Given the description of an element on the screen output the (x, y) to click on. 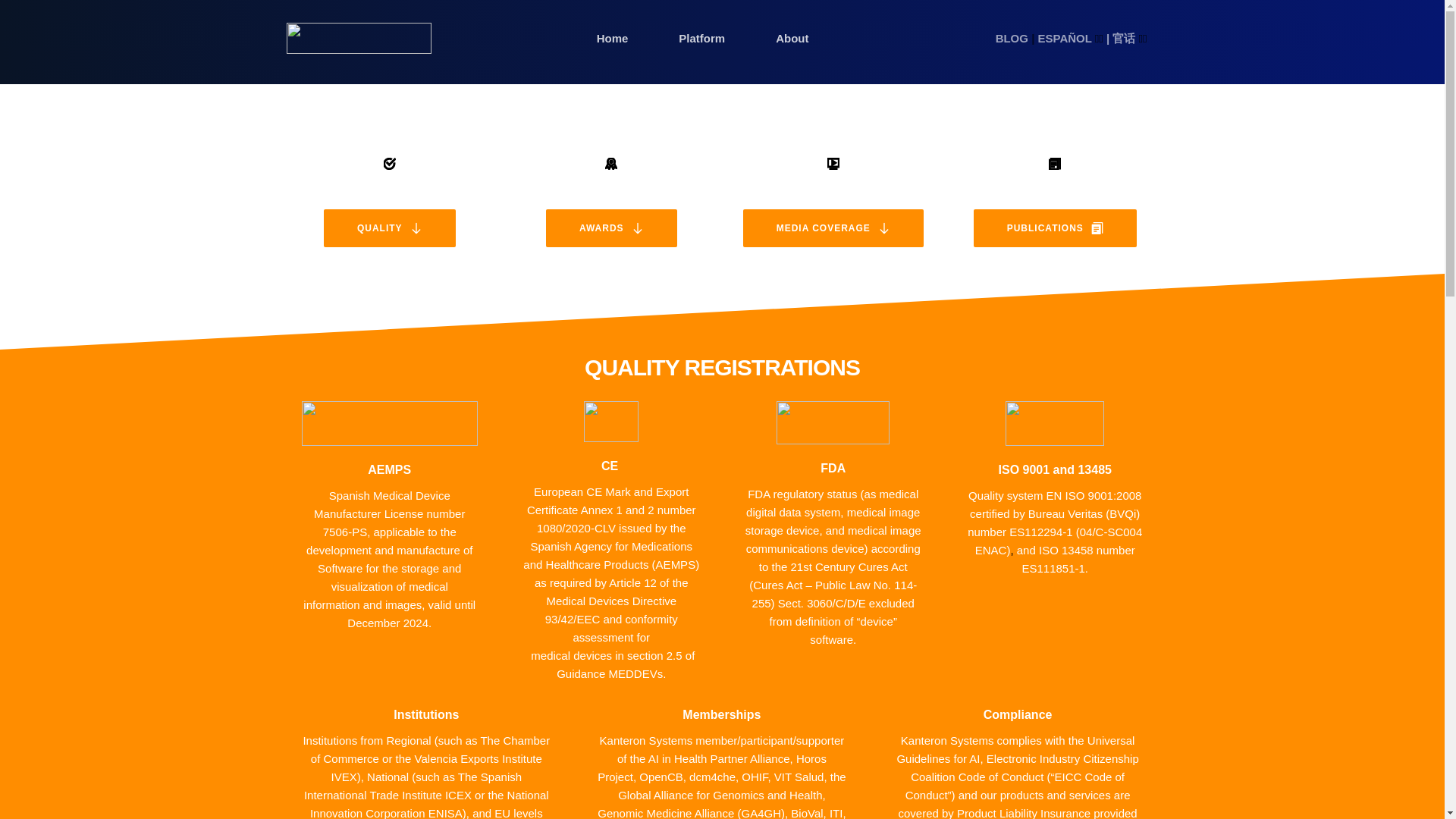
Valencia Exports Institute IVEX (437, 767)
FDA regulatory status (802, 493)
PUBLICATIONS (1055, 228)
Platform (702, 38)
Medical Device Manufacturer License number 7506-PS (390, 513)
ISO 13458 number ES111851-1 (1079, 558)
European CE Mark (582, 491)
AWARDS (611, 228)
Spanish International Trade Institute ICEX (414, 785)
The Chamber of Commerce (432, 748)
